Given the description of an element on the screen output the (x, y) to click on. 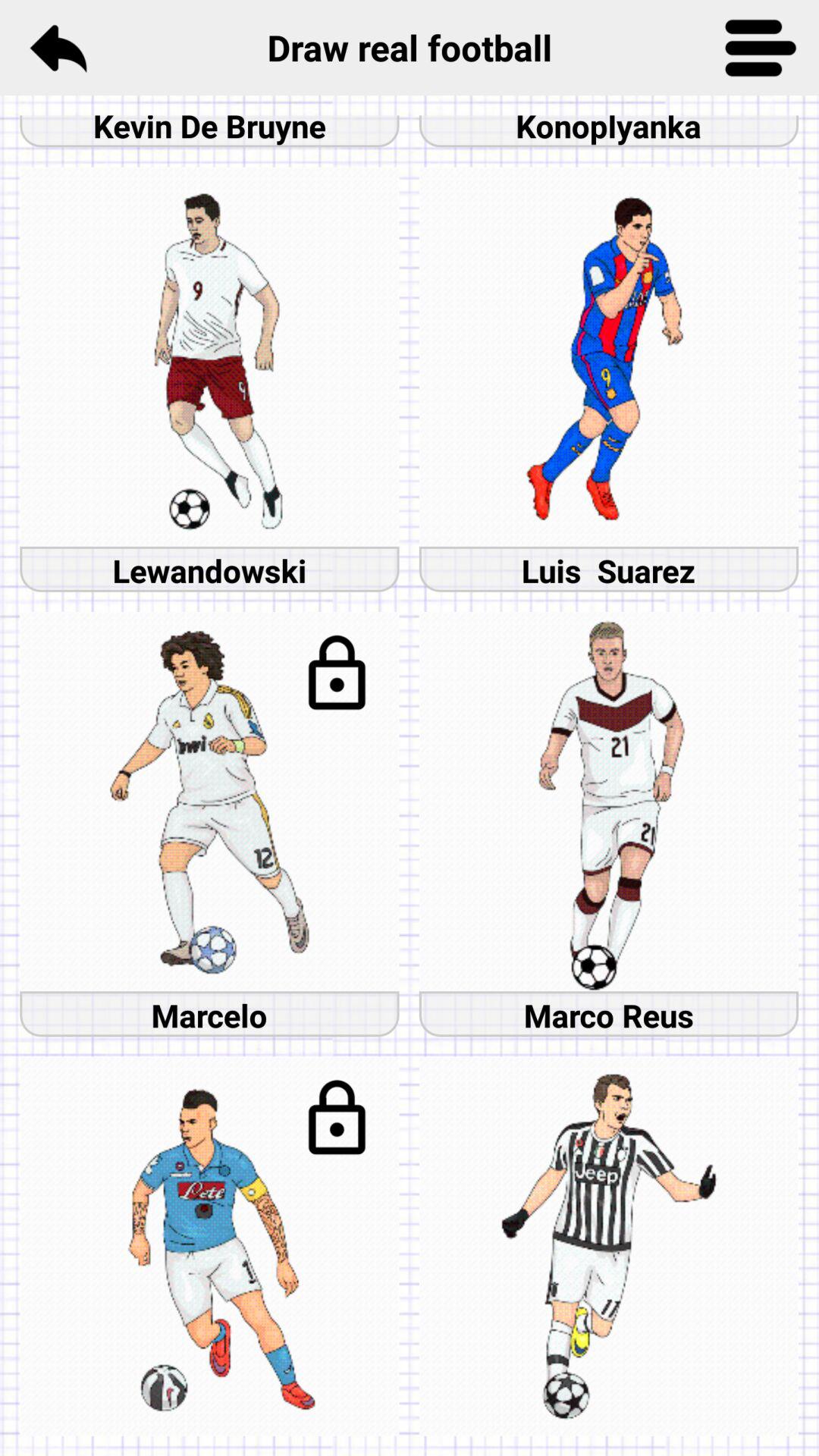
click the item to the right of draw real football item (760, 47)
